Given the description of an element on the screen output the (x, y) to click on. 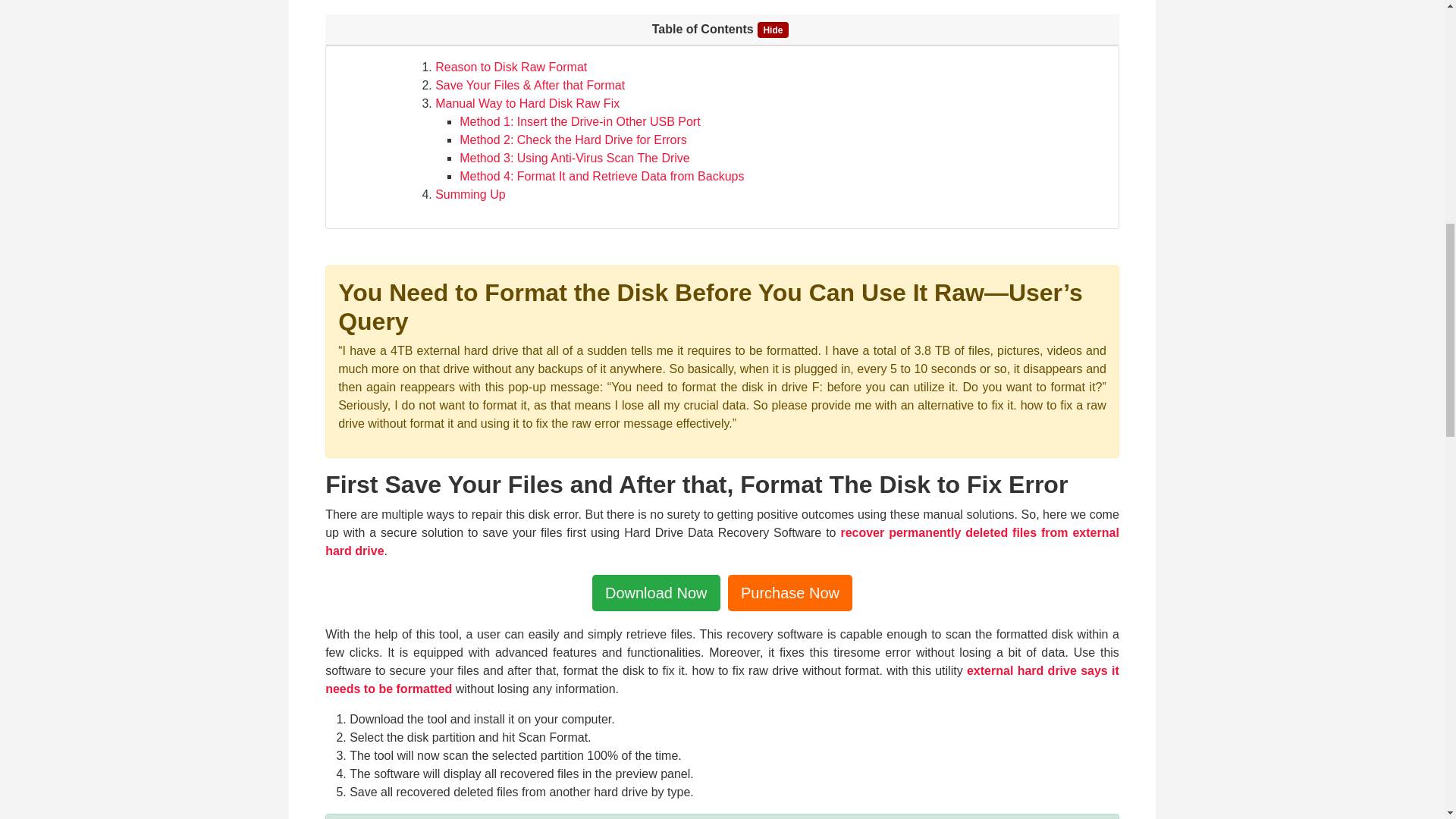
Summing Up (470, 194)
recover permanently deleted files from external hard drive (721, 541)
Download Now (656, 592)
Method 2: Check the Hard Drive for Errors (573, 139)
Method 1: Insert the Drive-in Other USB Port (580, 121)
Manual Way to Hard Disk Raw Fix (527, 103)
Method 3: Using Anti-Virus Scan The Drive (575, 157)
Reason to Disk Raw Format (510, 66)
Method 2: Check the Hard Drive for Errors (573, 139)
Hide (773, 29)
Method 3: Using Anti-Virus Scan The Drive (575, 157)
external hard drive says it needs to be formatted (721, 679)
Summing Up (470, 194)
Purchase Now (789, 592)
Method 4: Format It and Retrieve Data from Backups (602, 175)
